Given the description of an element on the screen output the (x, y) to click on. 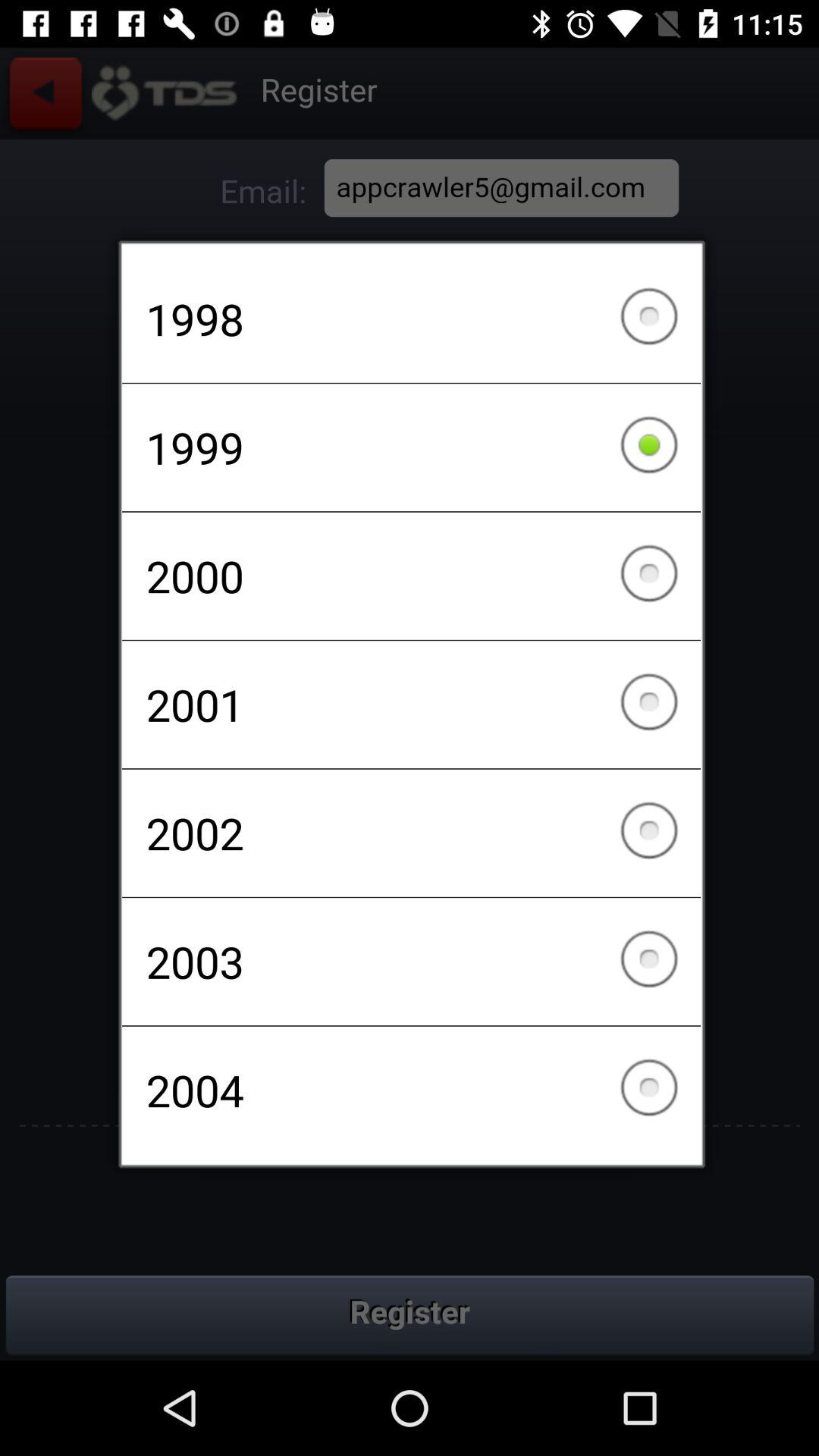
press the icon above the 2000 item (411, 447)
